Given the description of an element on the screen output the (x, y) to click on. 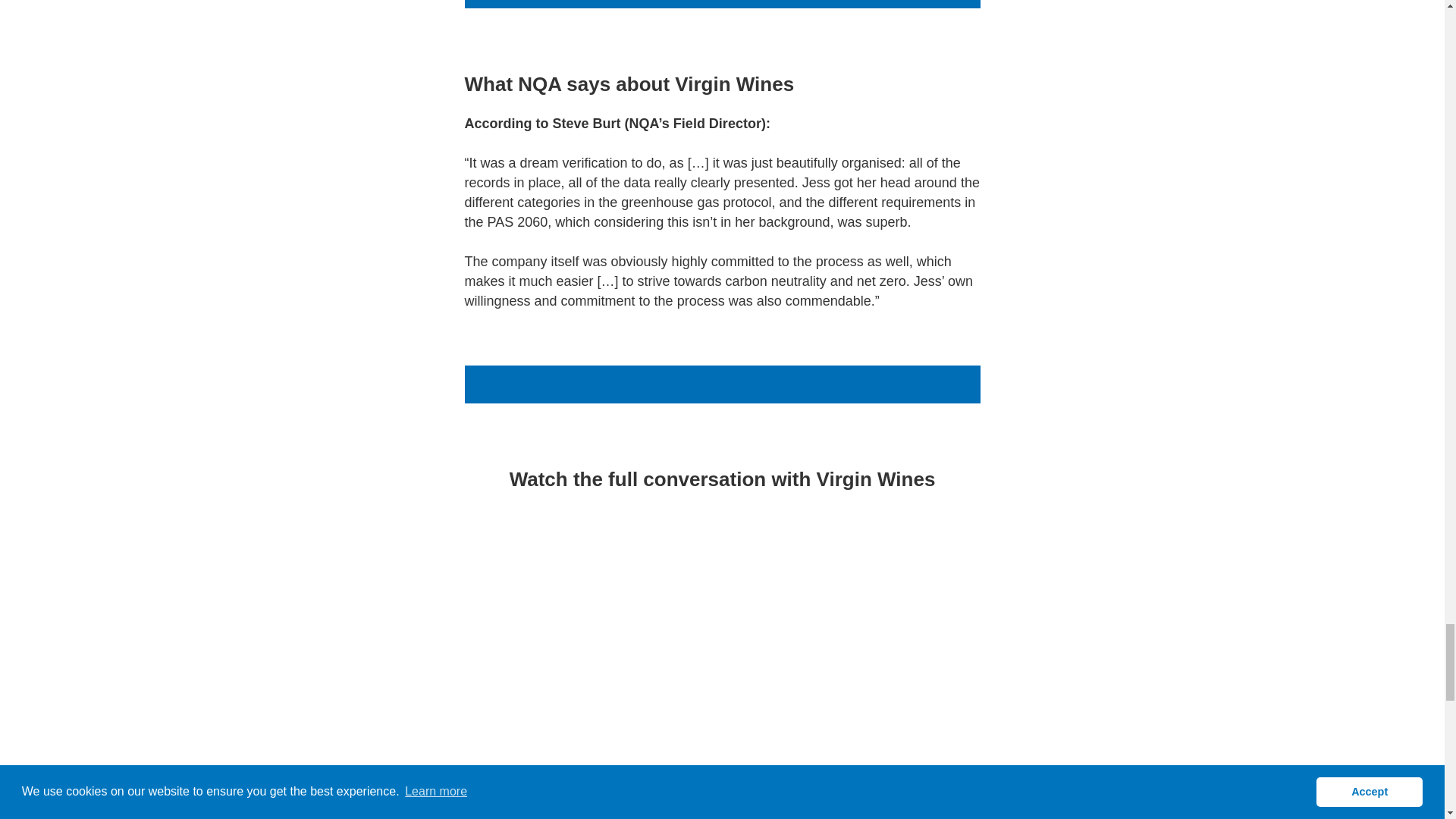
YouTube video player (721, 647)
